Given the description of an element on the screen output the (x, y) to click on. 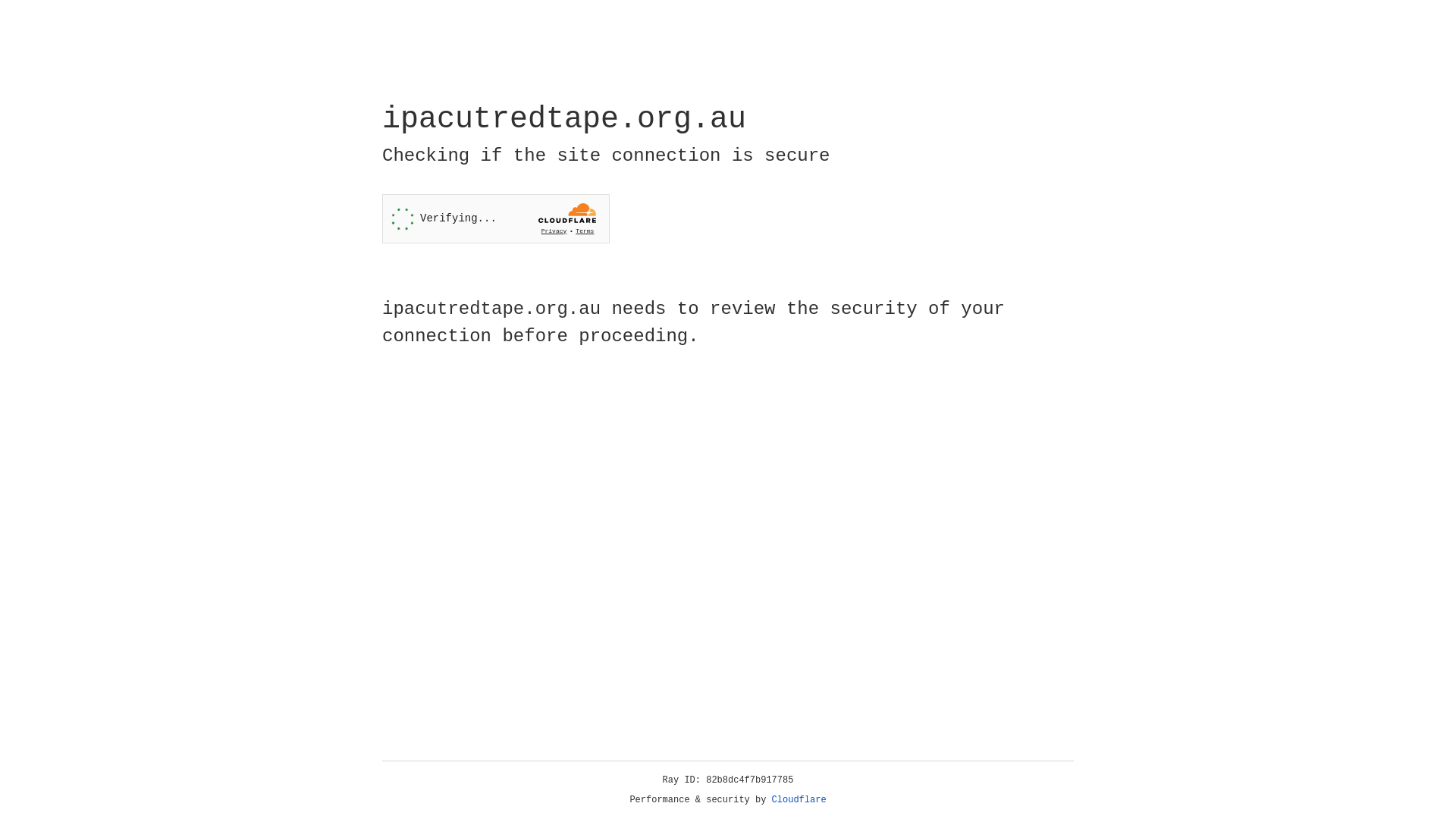
Cloudflare Element type: text (798, 799)
Widget containing a Cloudflare security challenge Element type: hover (495, 218)
